Given the description of an element on the screen output the (x, y) to click on. 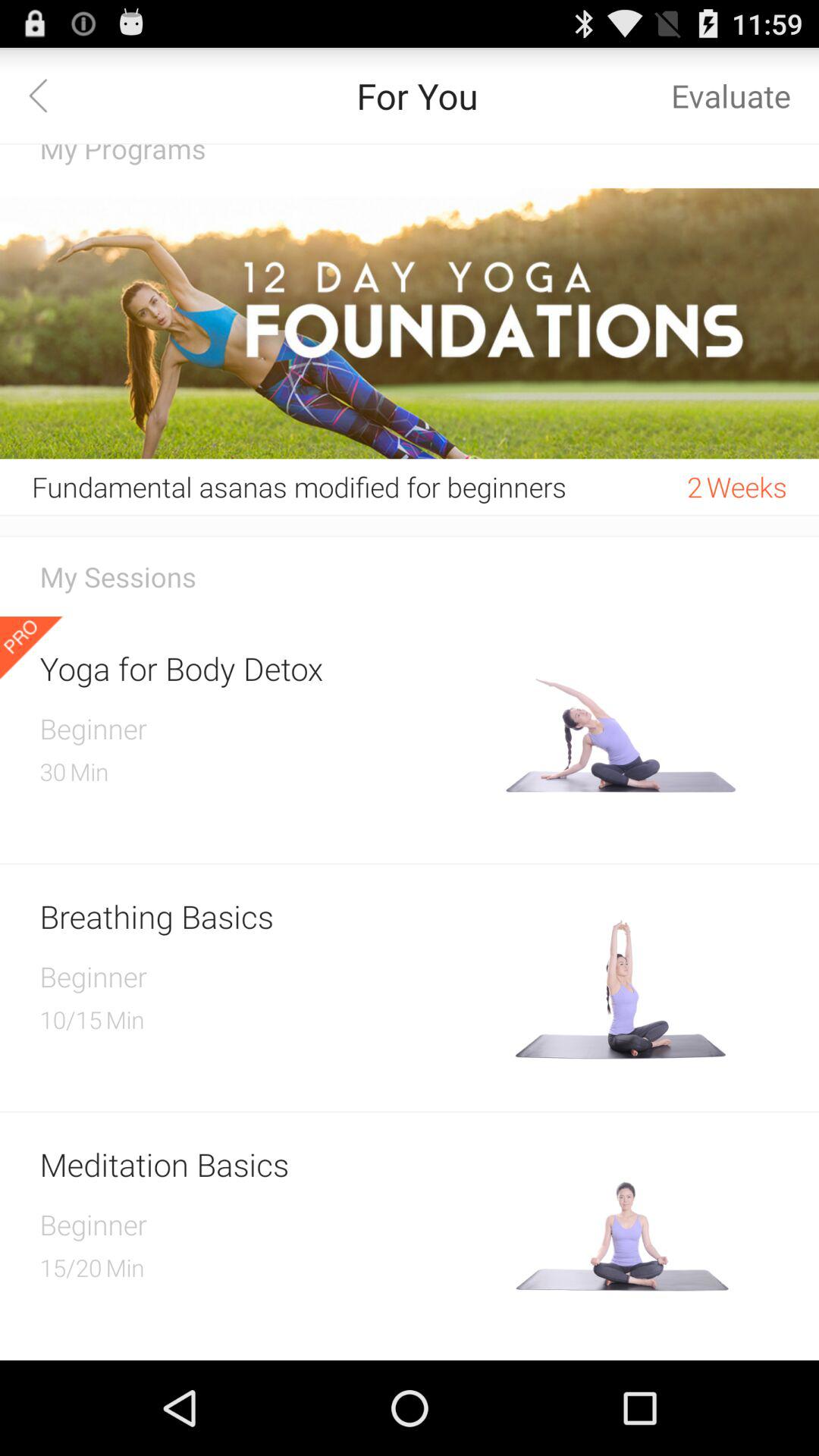
go back (47, 95)
